Given the description of an element on the screen output the (x, y) to click on. 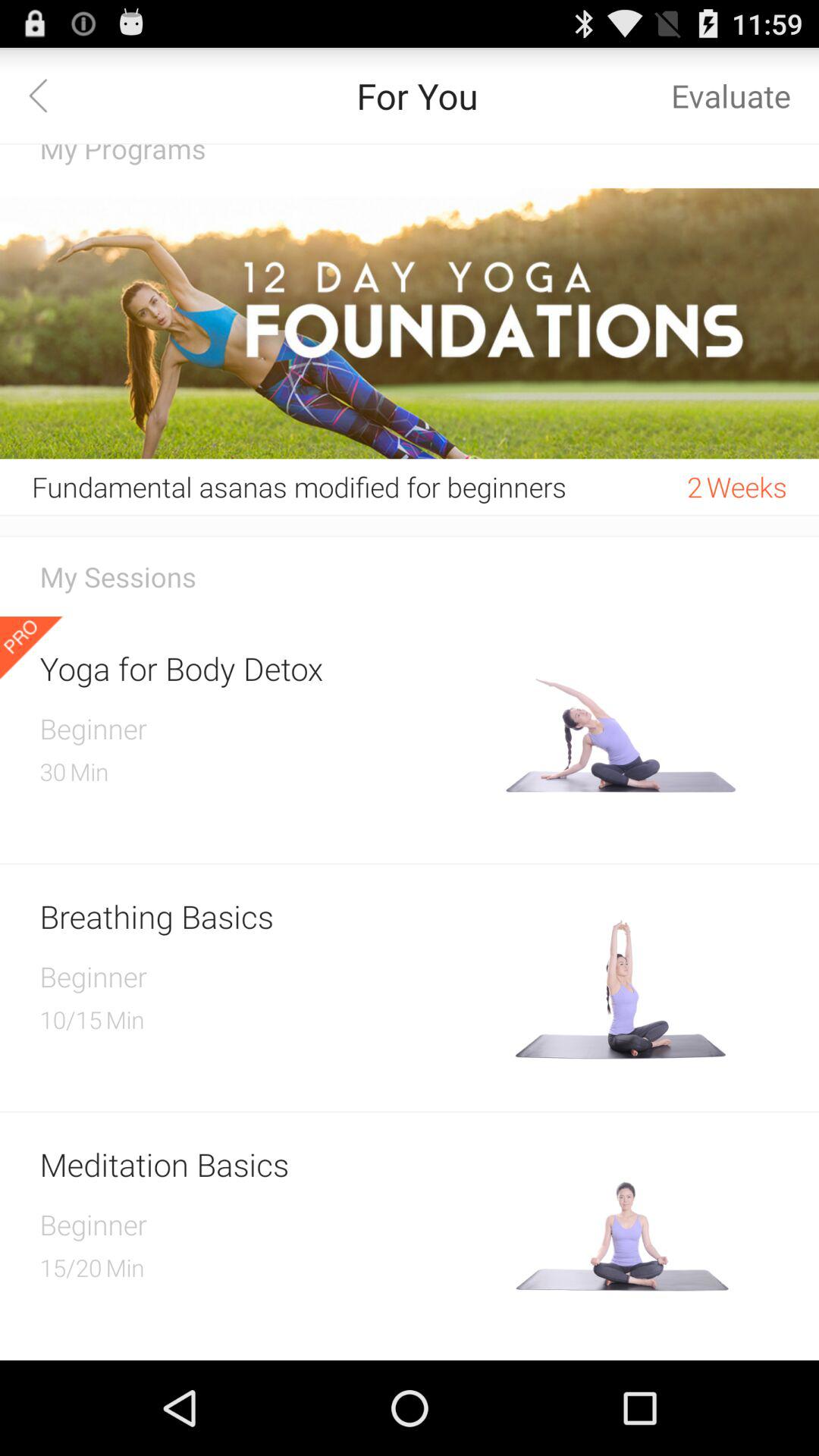
go back (47, 95)
